Given the description of an element on the screen output the (x, y) to click on. 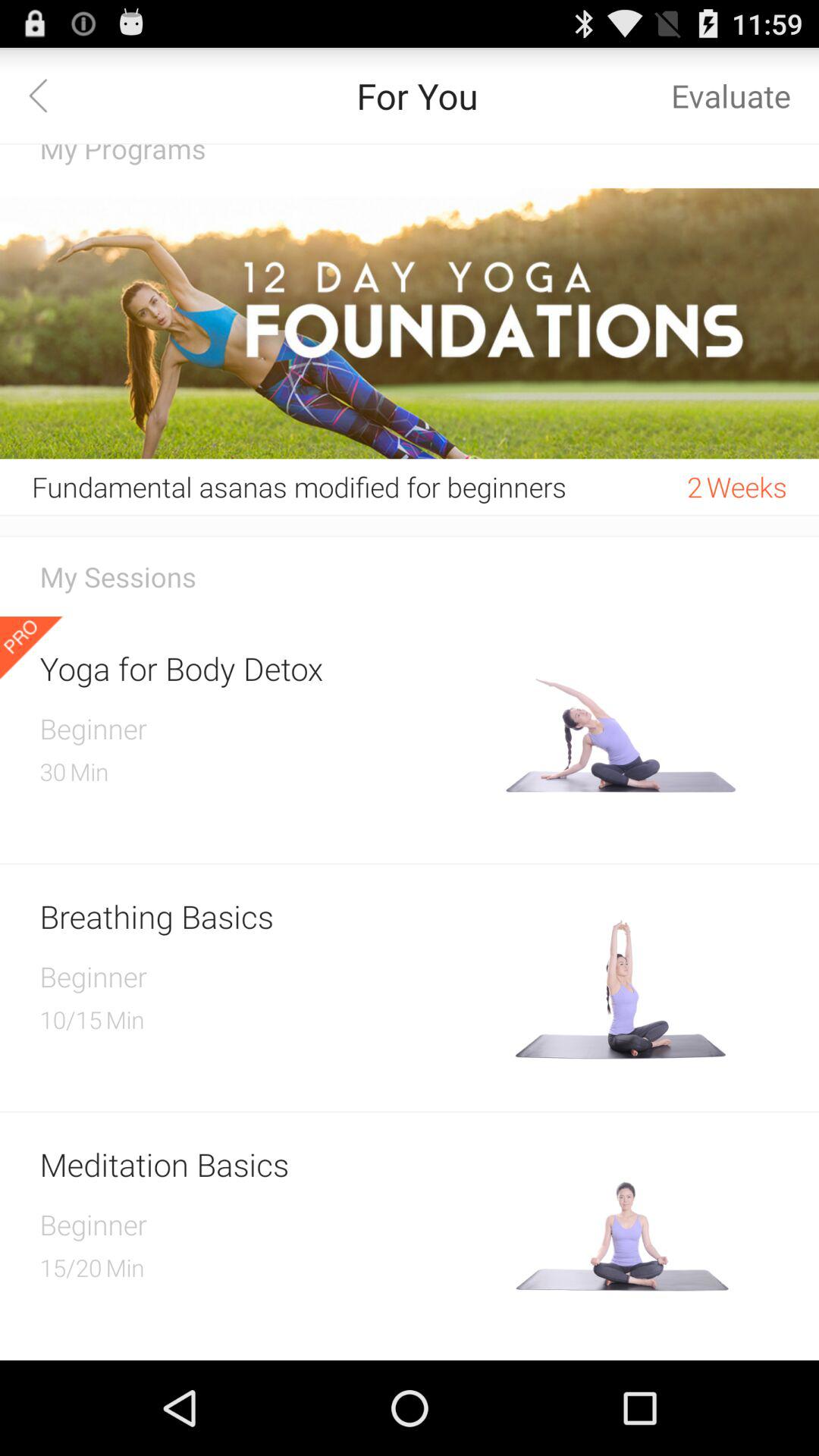
go back (47, 95)
